Given the description of an element on the screen output the (x, y) to click on. 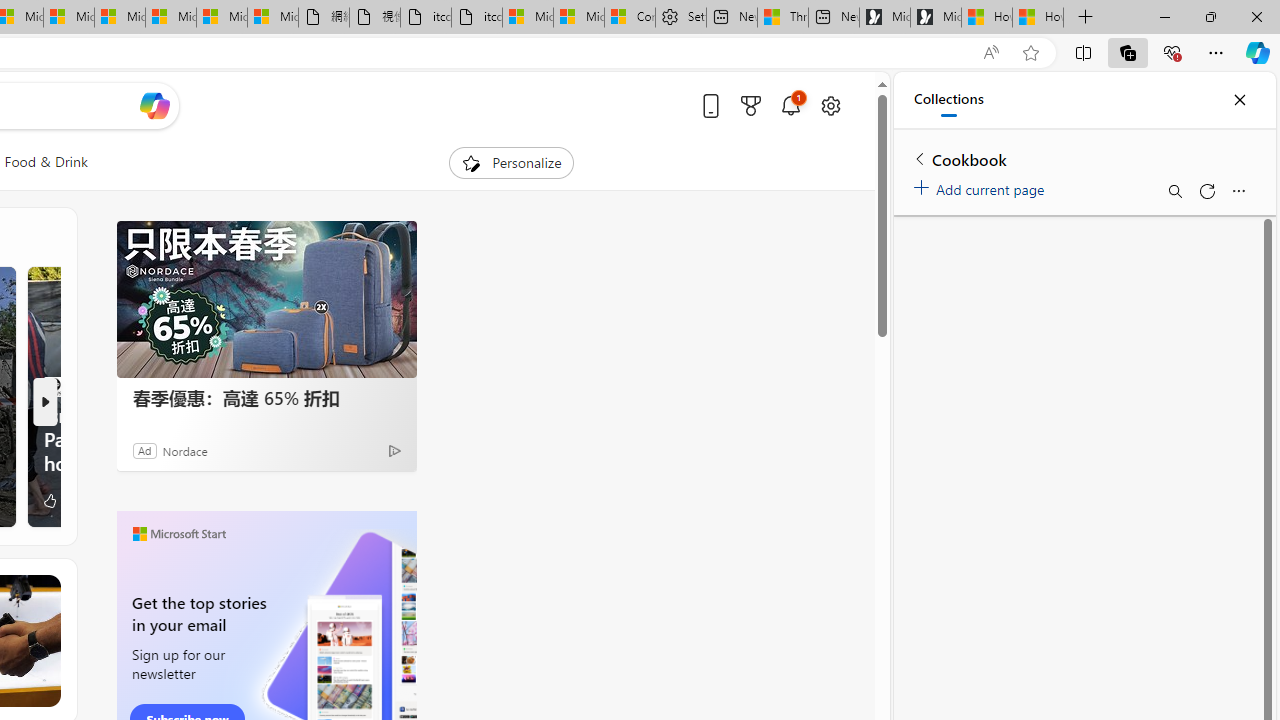
How to Use a TV as a Computer Monitor (1037, 17)
Add current page (982, 186)
Back to list of collections (920, 158)
itconcepthk.com/projector_solutions.mp4 (476, 17)
